Given the description of an element on the screen output the (x, y) to click on. 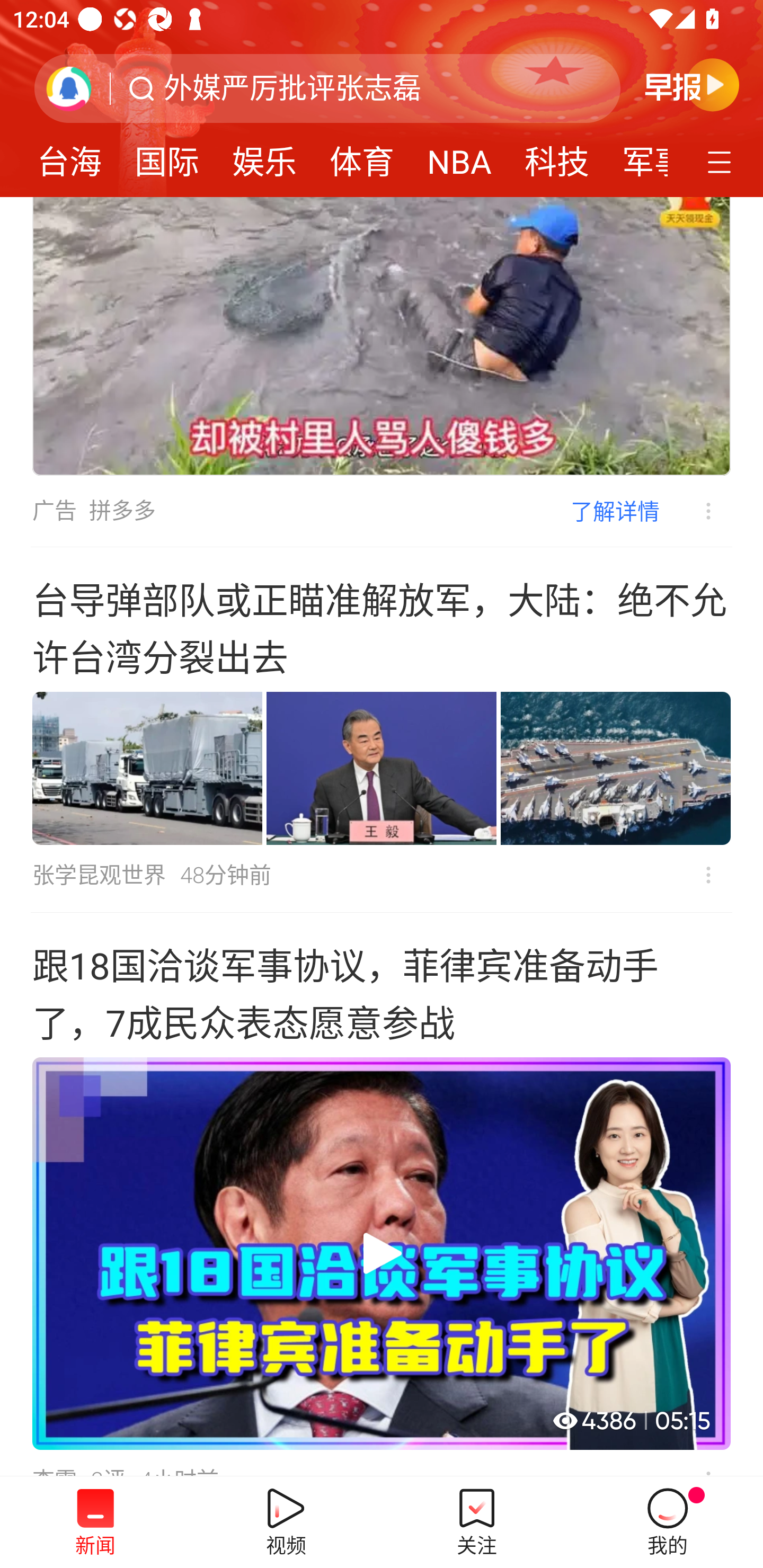
早晚报 (691, 84)
刷新 (68, 88)
外媒严厉批评张志磊 (292, 88)
台海 (69, 155)
国际 (166, 155)
娱乐 (263, 155)
体育 (361, 155)
NBA (459, 155)
科技 (556, 155)
 定制频道 (721, 160)
 不感兴趣 (694, 511)
了解详情 (614, 510)
广告 (54, 510)
拼多多 (122, 510)
 不感兴趣 (707, 874)
